Given the description of an element on the screen output the (x, y) to click on. 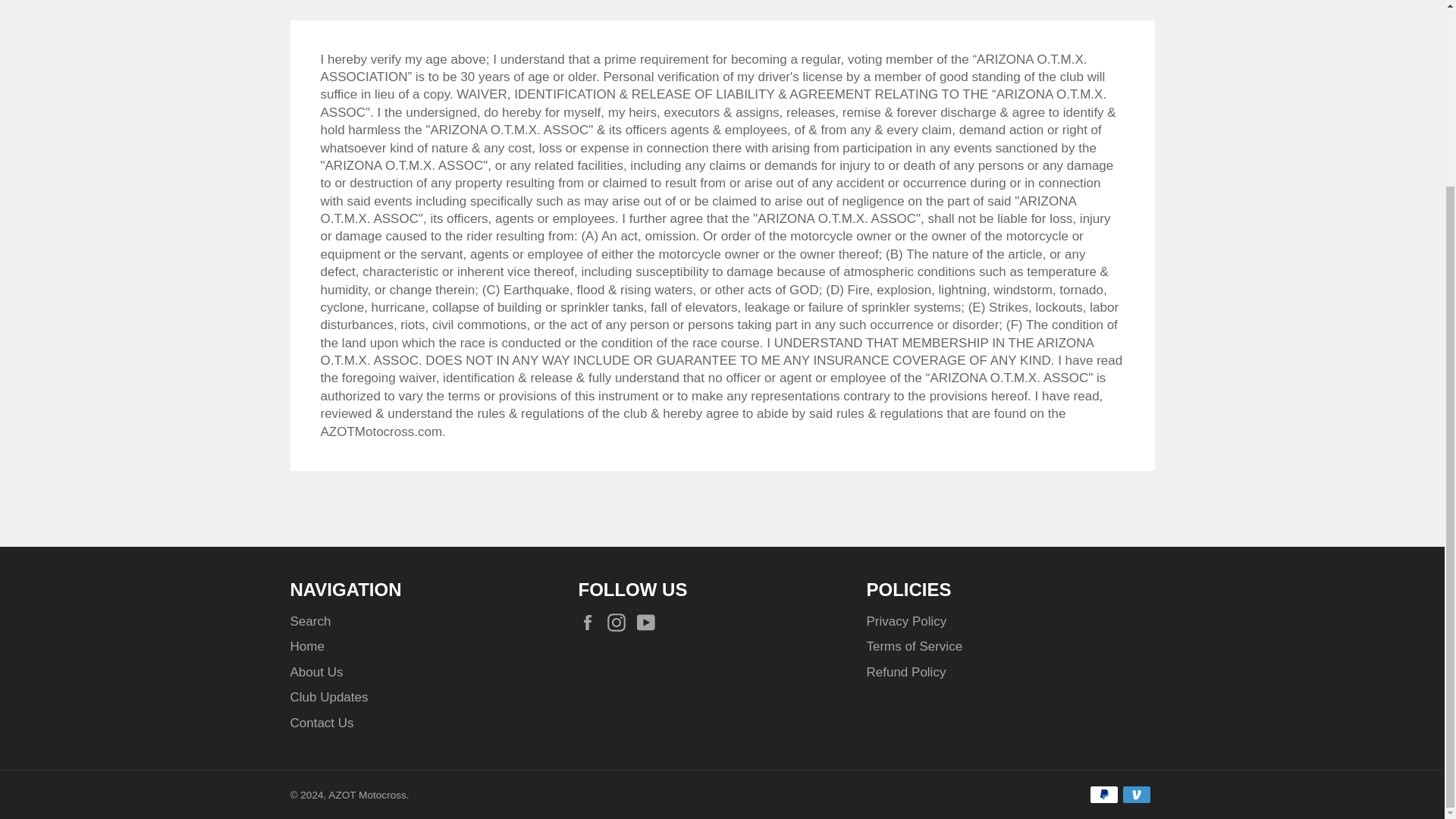
AZOT Motocross on Facebook (591, 621)
AZOT Motocross on Instagram (620, 621)
AZOT Motocross on YouTube (649, 621)
